Given the description of an element on the screen output the (x, y) to click on. 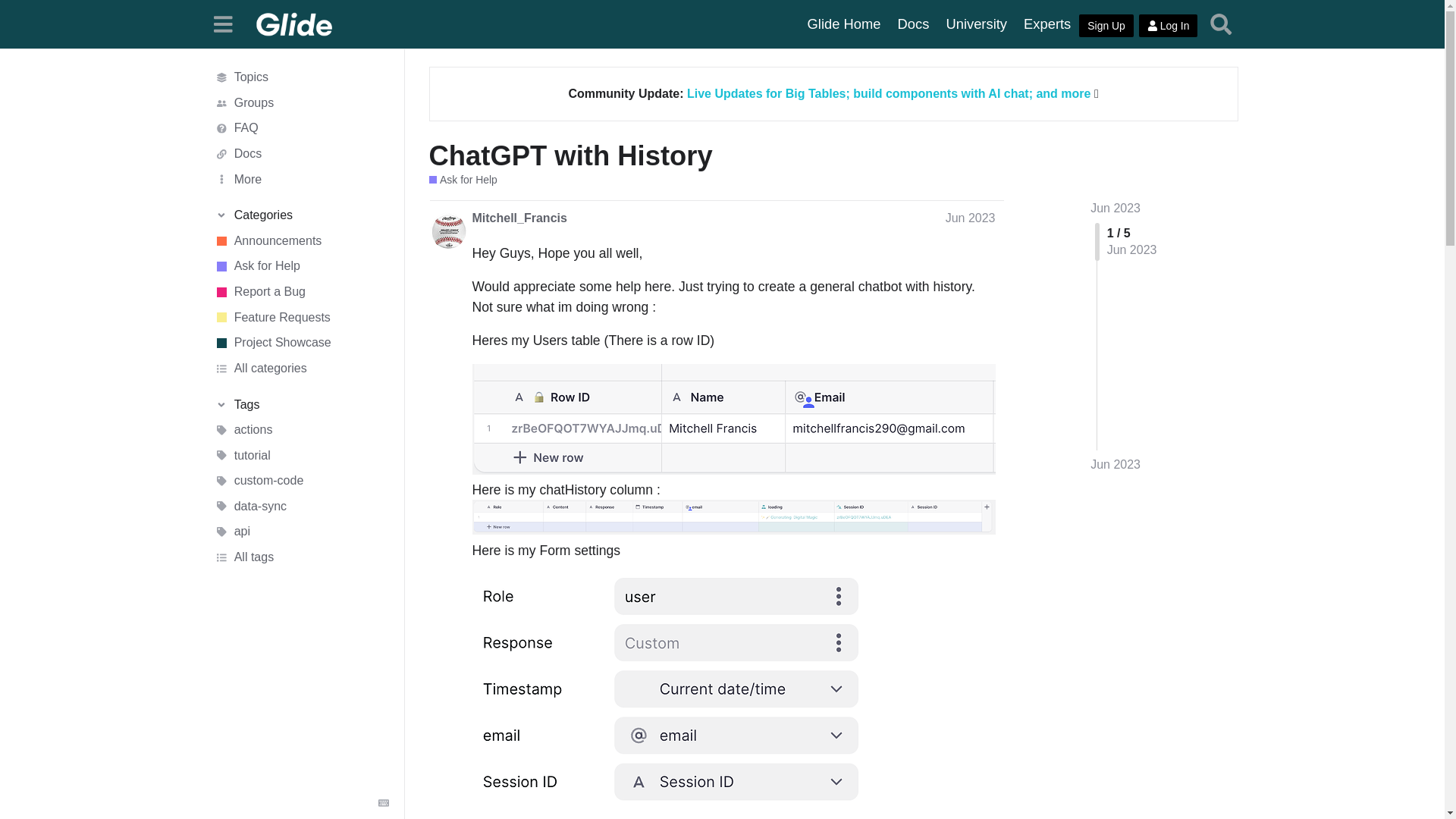
University (975, 23)
Docs (301, 153)
Go to the Glide website (844, 23)
Topics (301, 77)
Hire a Glide Expert (1046, 23)
List of available user groups (301, 103)
Glide University (975, 23)
Docs (913, 23)
tutorial (301, 455)
Sign Up (1105, 25)
